Given the description of an element on the screen output the (x, y) to click on. 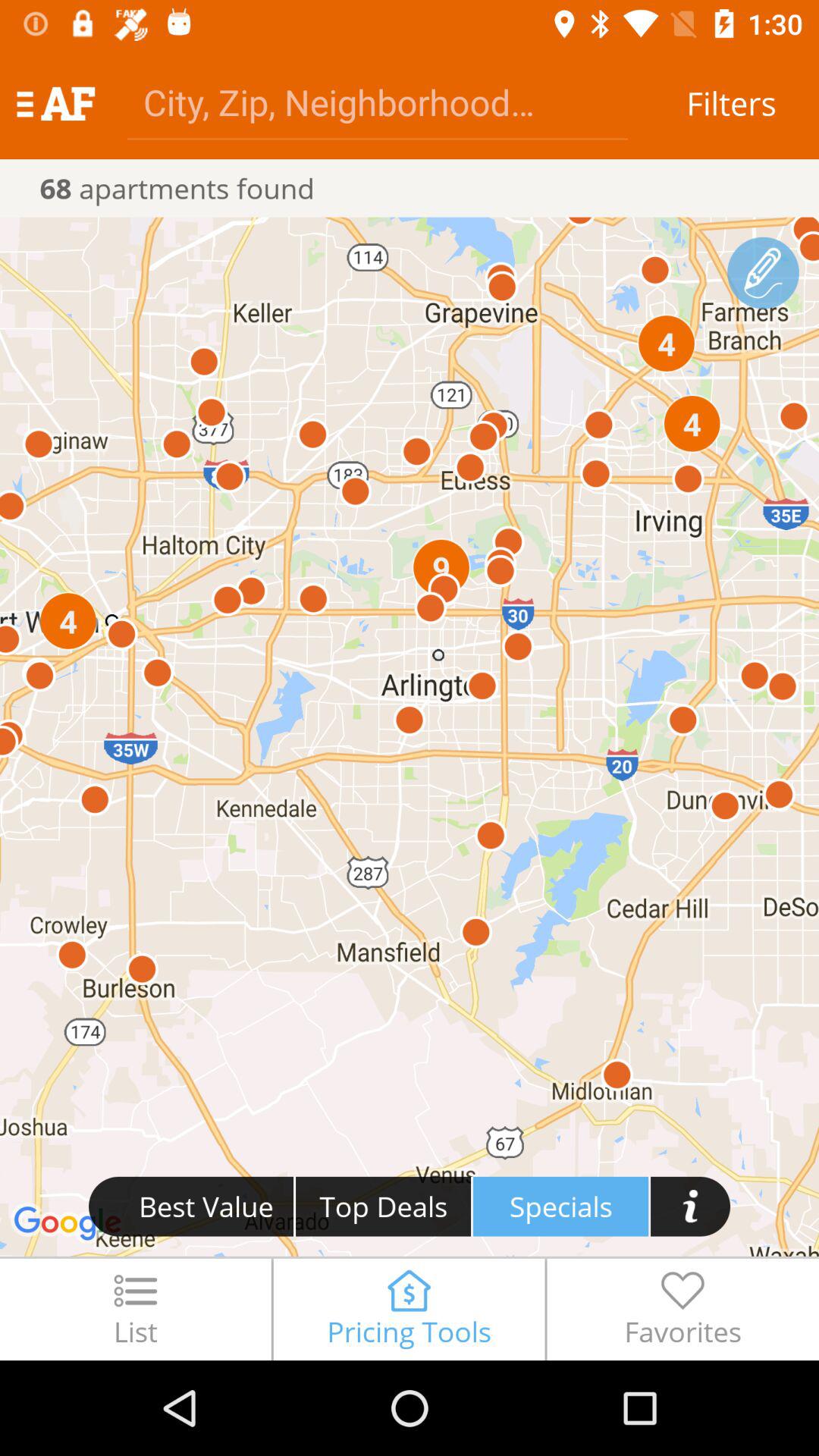
open the information page (690, 1205)
